Given the description of an element on the screen output the (x, y) to click on. 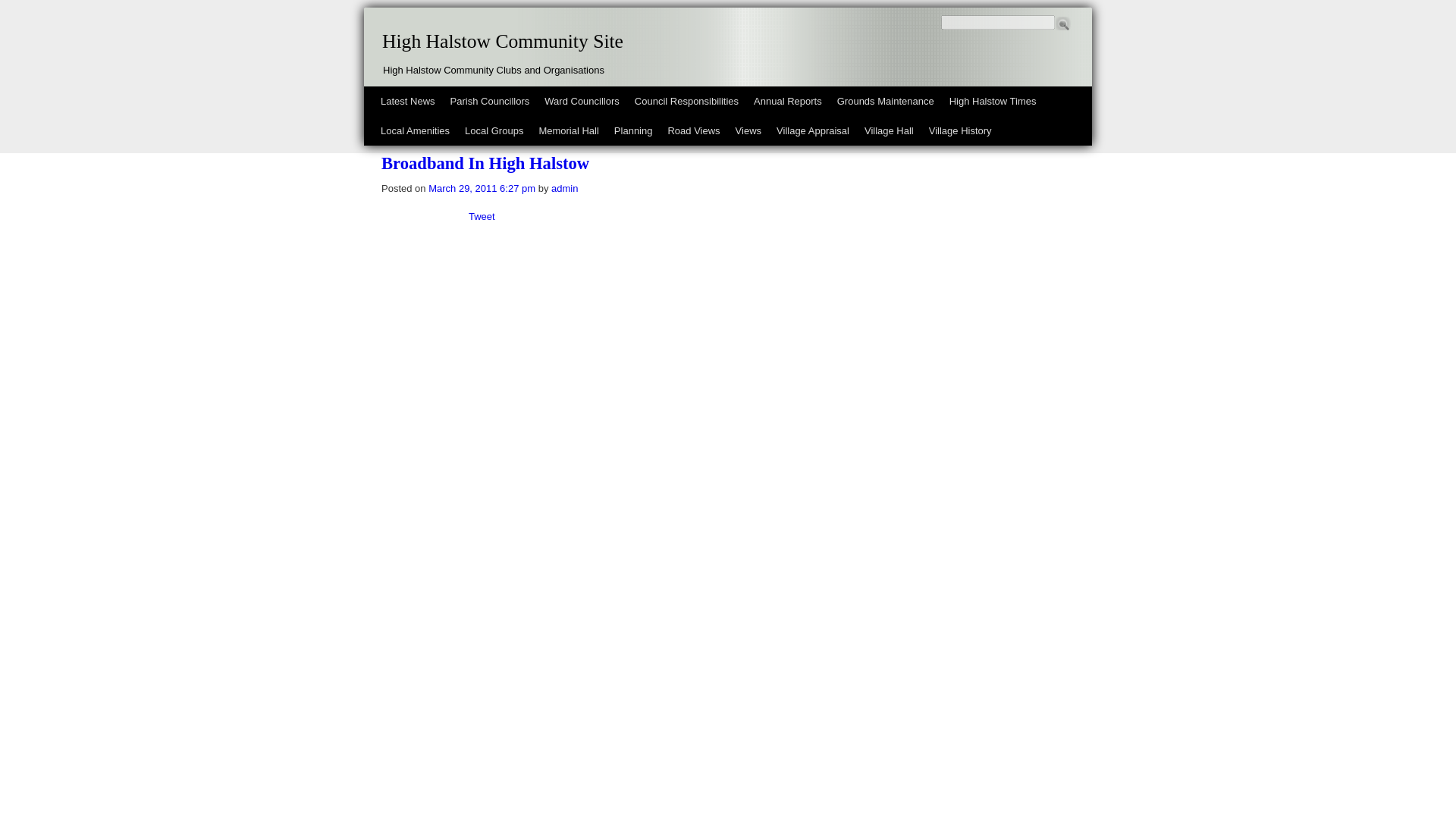
Road Views (692, 130)
Parish Councillors (489, 101)
Memorial Hall (568, 130)
Permanent Link to Broadband In High Halstow (485, 162)
Local Groups (494, 130)
March 29, 2011 6:27 pm (481, 188)
Local Amenities (414, 130)
Village Hall (889, 130)
Planning (634, 130)
Annual Reports (787, 101)
March 29, 2011 6:27 pm (481, 188)
High Halstow Community Site (502, 42)
Latest News (407, 101)
Broadband In High Halstow (485, 162)
Ward Councillors (582, 101)
